Given the description of an element on the screen output the (x, y) to click on. 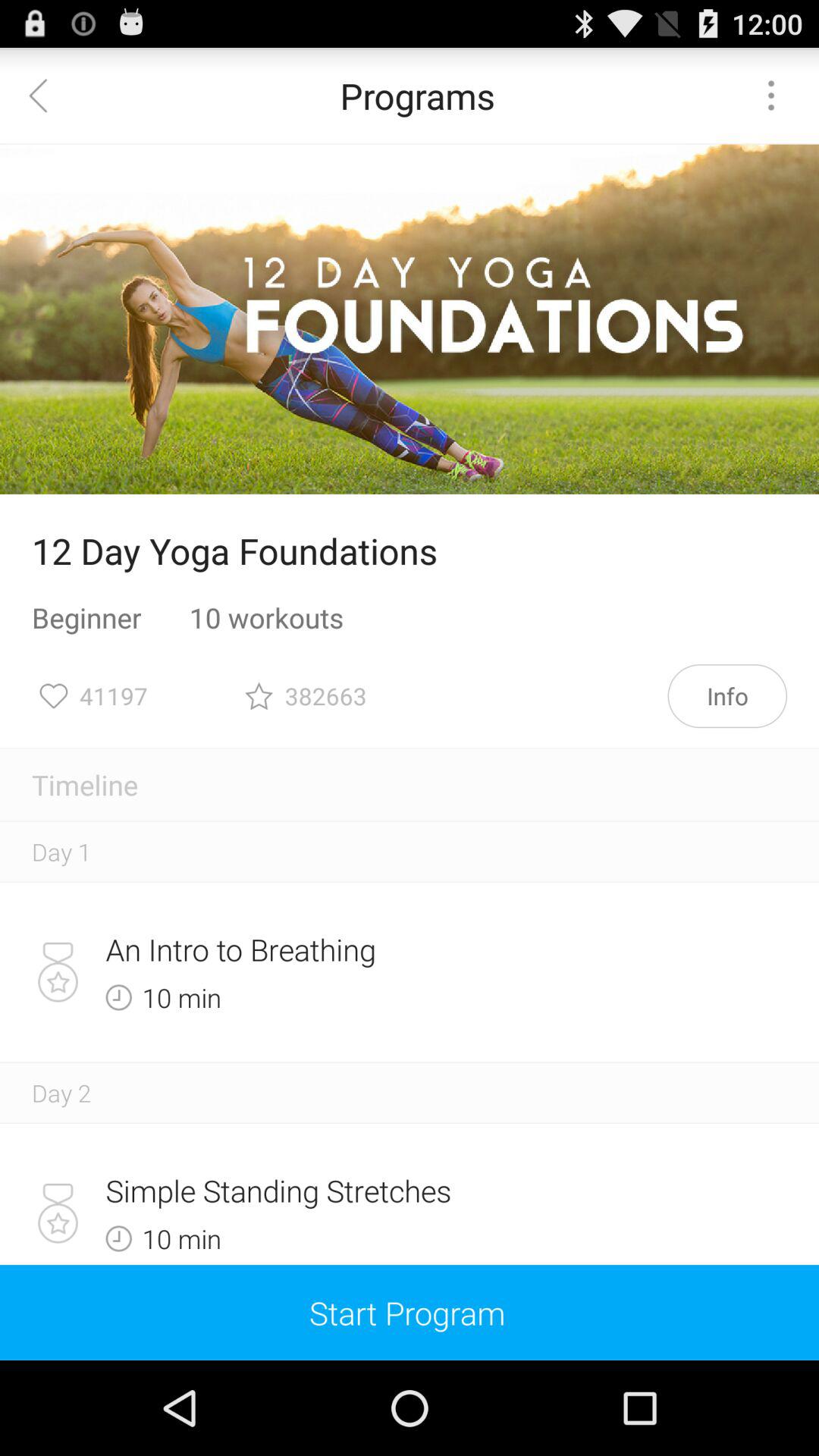
swipe until day 1 icon (61, 851)
